Given the description of an element on the screen output the (x, y) to click on. 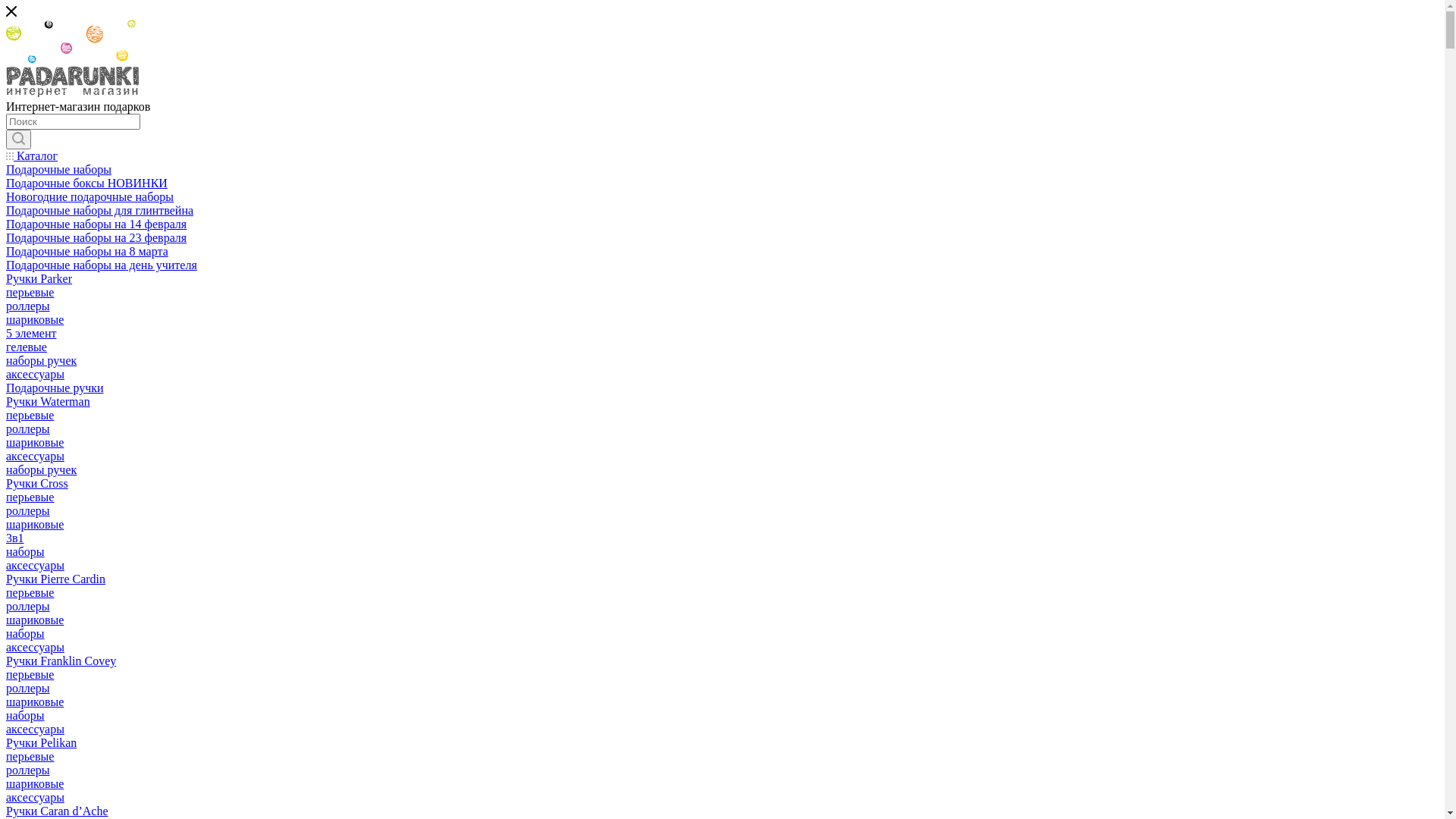
padarunki Element type: hover (72, 58)
